Given the description of an element on the screen output the (x, y) to click on. 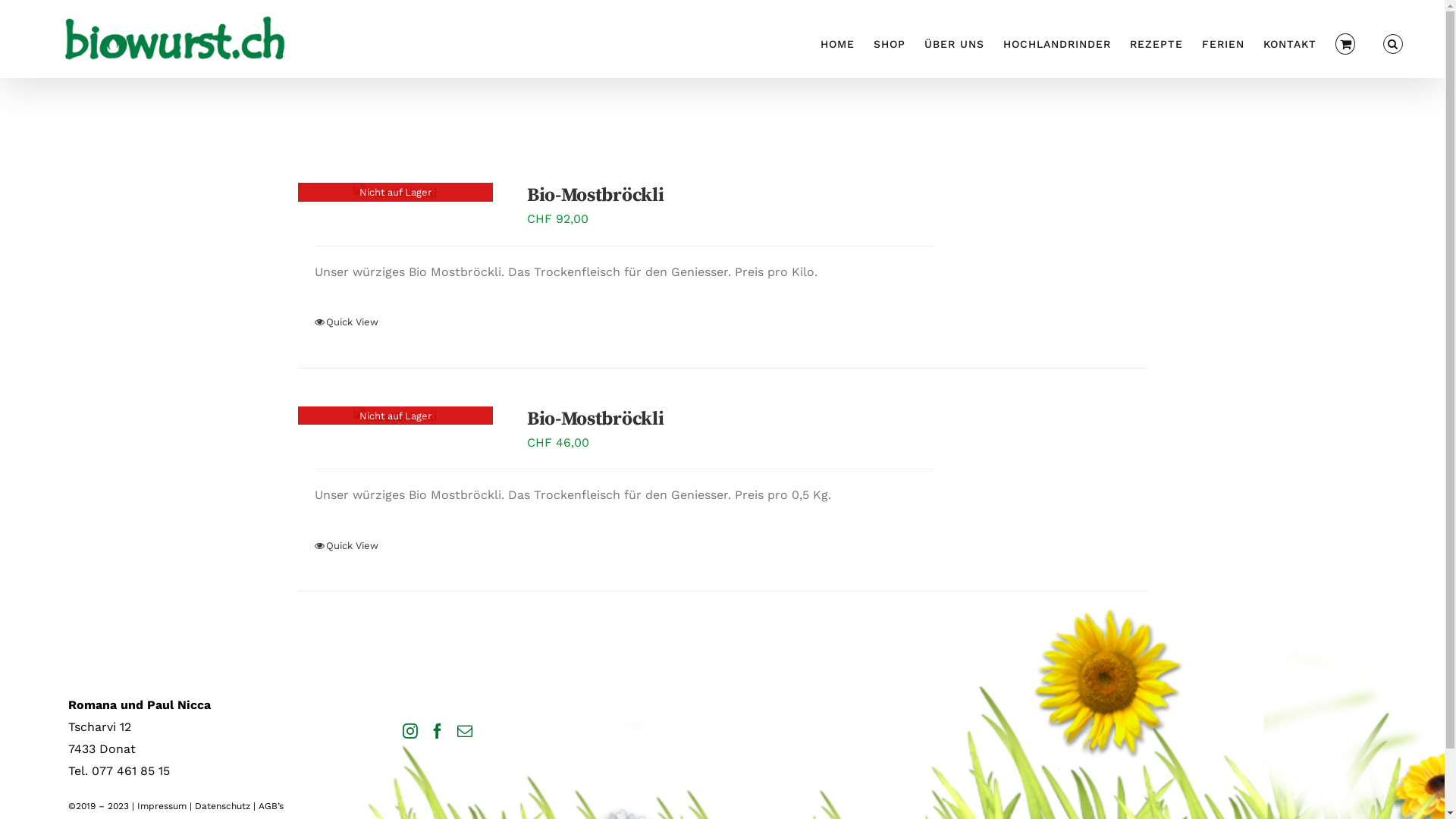
HOME Element type: text (837, 42)
FERIEN Element type: text (1222, 42)
Zeige 12 Produkte Element type: text (545, 104)
KONTAKT Element type: text (1289, 42)
Datenschutz Element type: text (222, 805)
Facebook Element type: hover (437, 730)
Nicht auf Lager Element type: text (394, 417)
Suche Element type: hover (1392, 42)
Mail Element type: hover (464, 730)
SHOP Element type: text (889, 42)
Sortieren nach Name Element type: text (362, 104)
Impressum Element type: text (161, 805)
REZEPTE Element type: text (1156, 42)
Quick View Element type: text (346, 321)
Instagram Element type: hover (409, 730)
Quick View Element type: text (346, 545)
Nicht auf Lager Element type: text (394, 193)
HOCHLANDRINDER Element type: text (1056, 42)
